Given the description of an element on the screen output the (x, y) to click on. 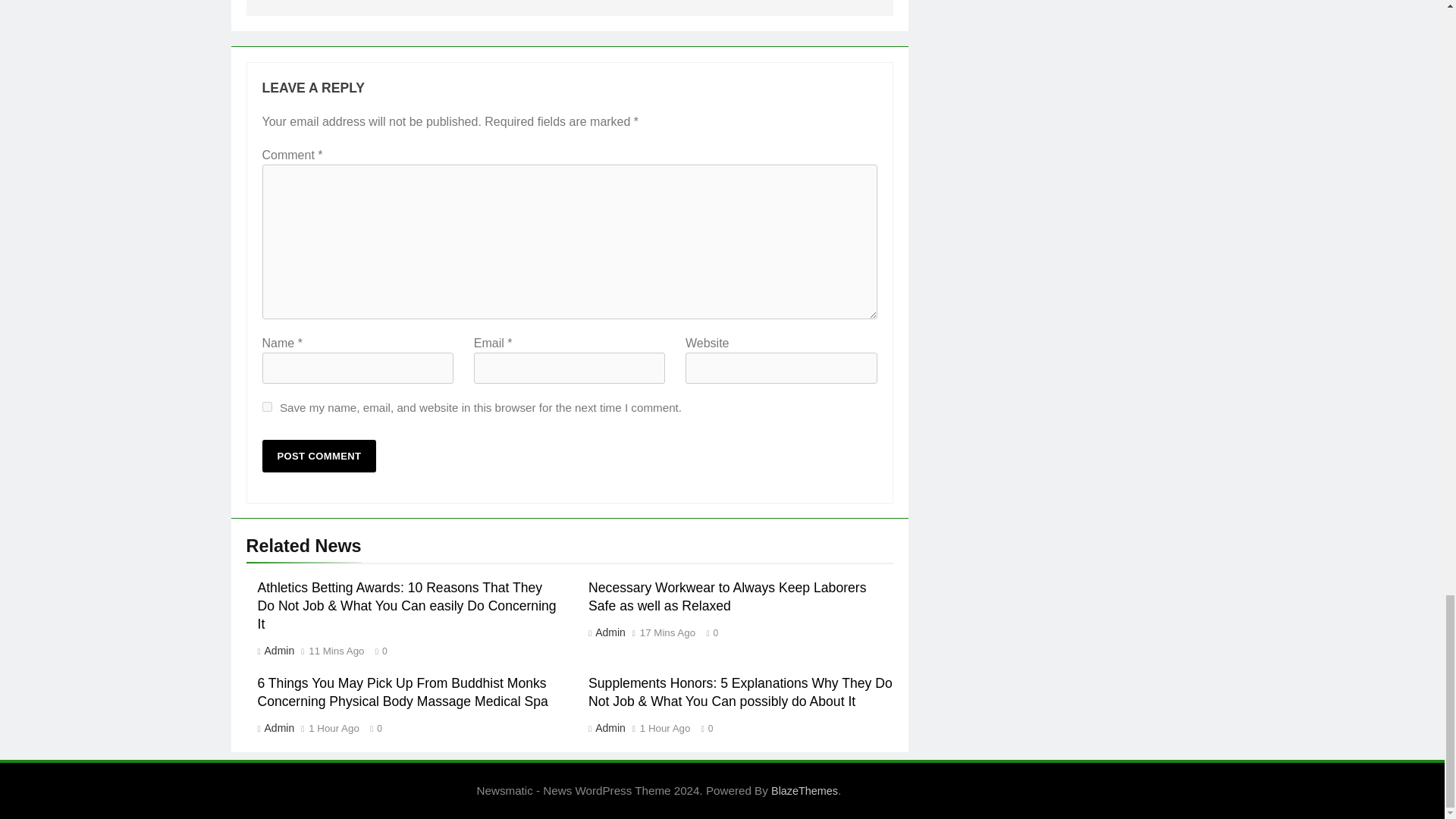
Post Comment (319, 455)
yes (267, 406)
